Given the description of an element on the screen output the (x, y) to click on. 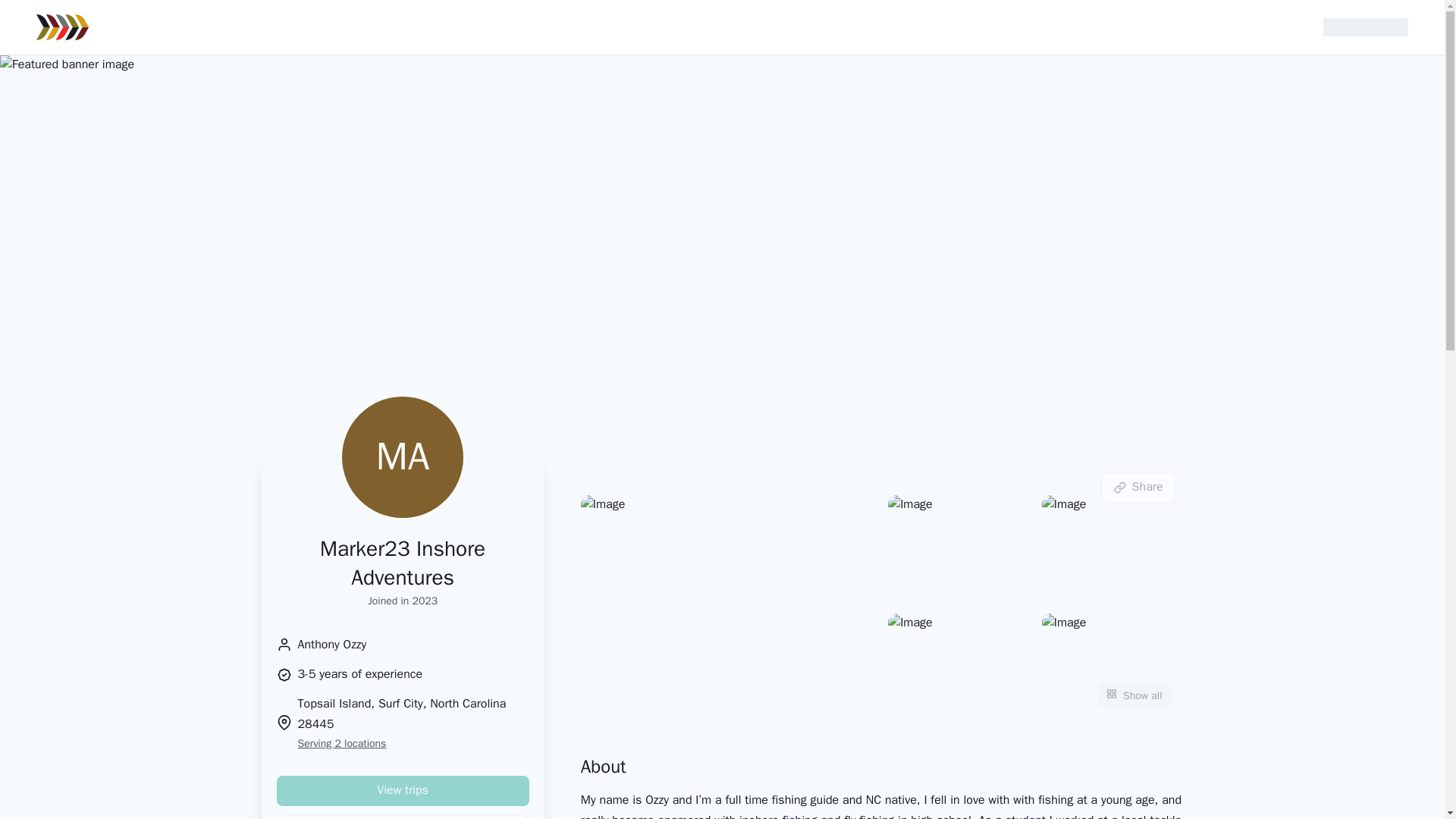
Send a message (402, 816)
Share (1138, 487)
View trips (402, 790)
Serving 2 locations (412, 743)
Show all (1133, 695)
